Given the description of an element on the screen output the (x, y) to click on. 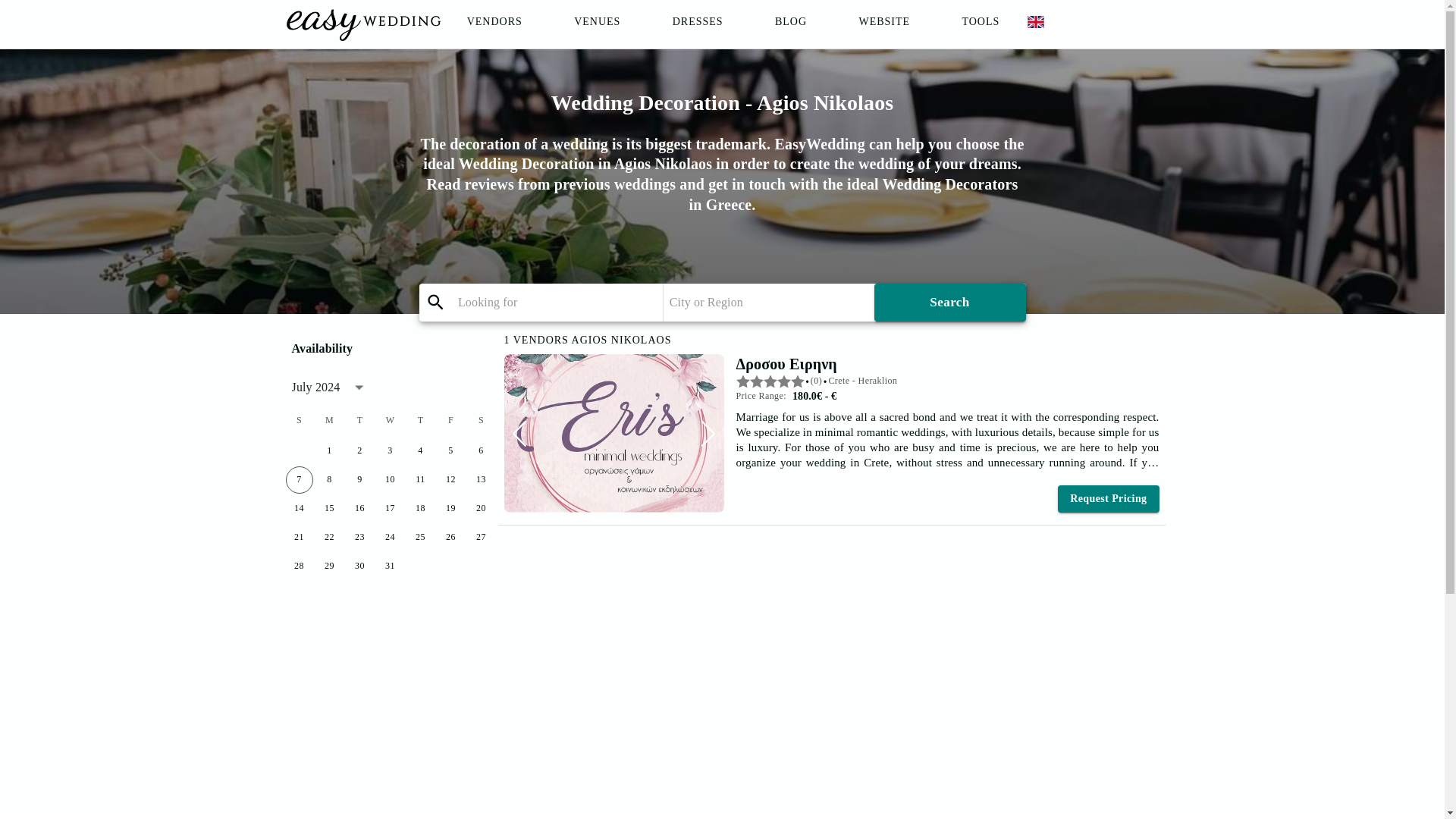
23 (359, 537)
25 (419, 537)
10 (389, 479)
14 (299, 508)
19 (450, 508)
6 (481, 451)
26 (450, 537)
DRESSES (697, 24)
4 (419, 451)
9 (359, 479)
22 (328, 537)
16 (359, 508)
5 (450, 451)
24 (389, 537)
Search (950, 302)
